Given the description of an element on the screen output the (x, y) to click on. 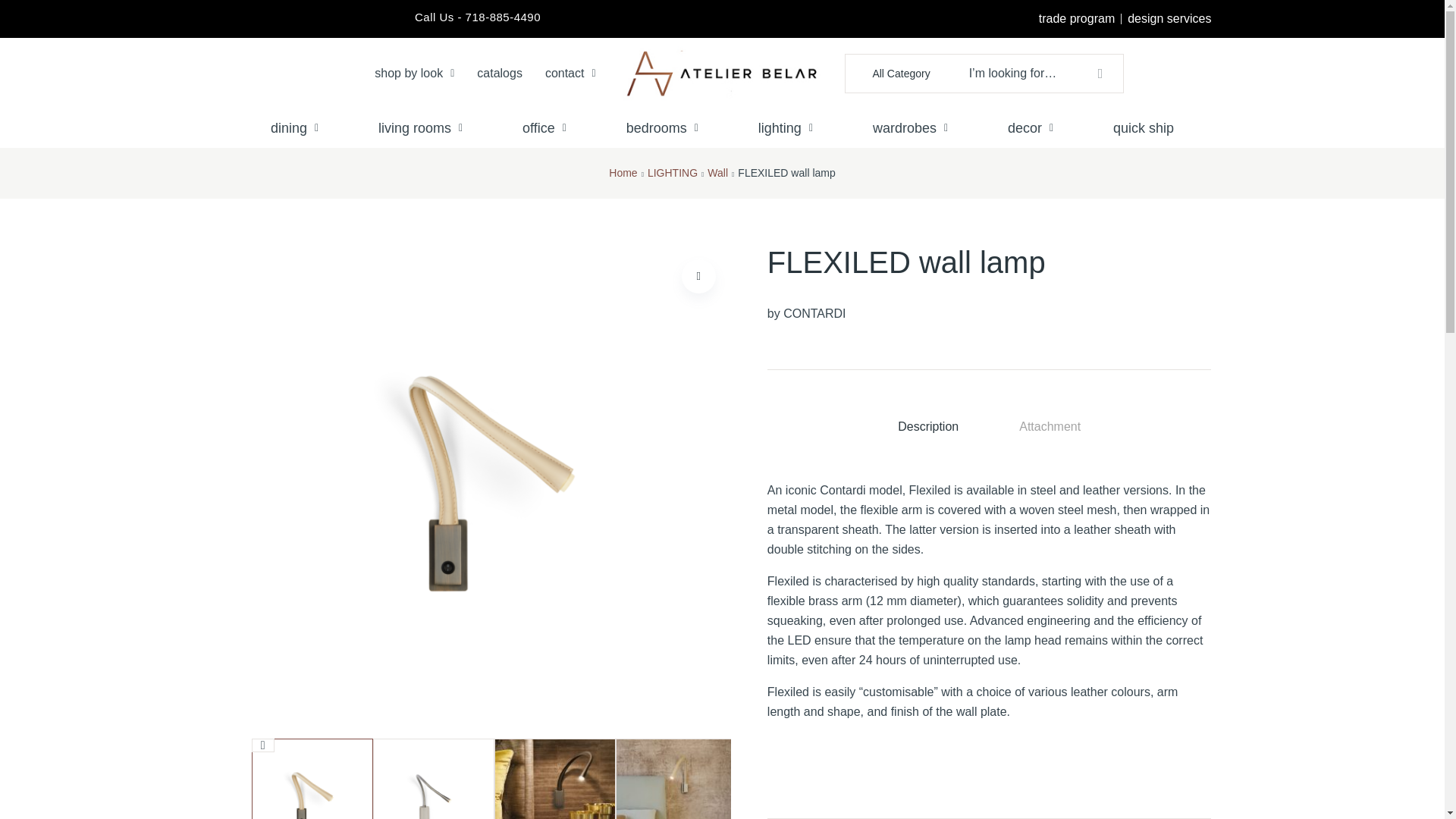
office (544, 128)
trade program (1077, 18)
contact (570, 73)
shop by look (413, 73)
living rooms (421, 128)
bedrooms (661, 128)
dining (295, 128)
catalogs (499, 73)
design services (1168, 18)
